Given the description of an element on the screen output the (x, y) to click on. 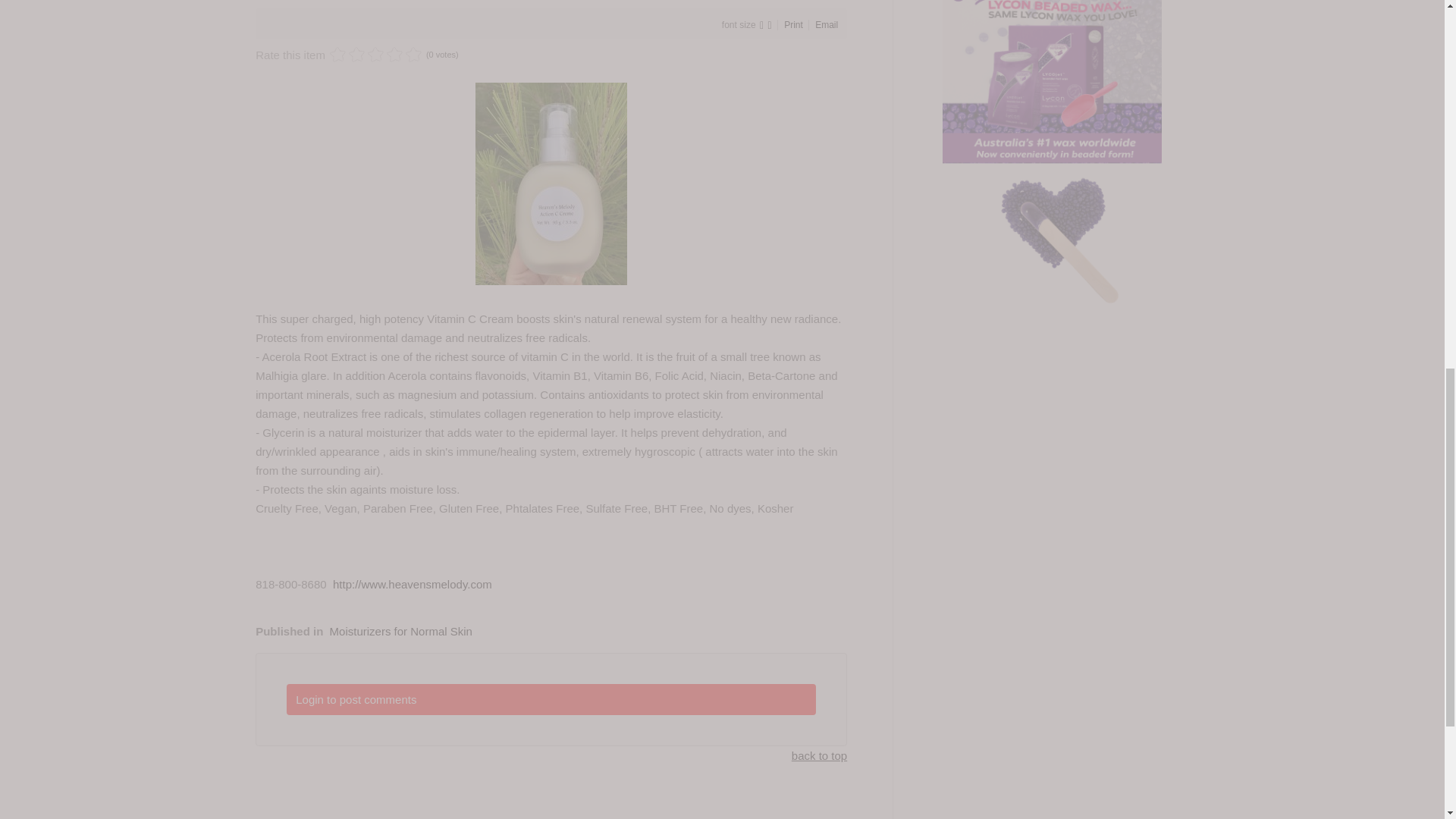
1 star out of 5 (338, 54)
2 stars out of 5 (347, 54)
3 stars out of 5 (357, 54)
